Given the description of an element on the screen output the (x, y) to click on. 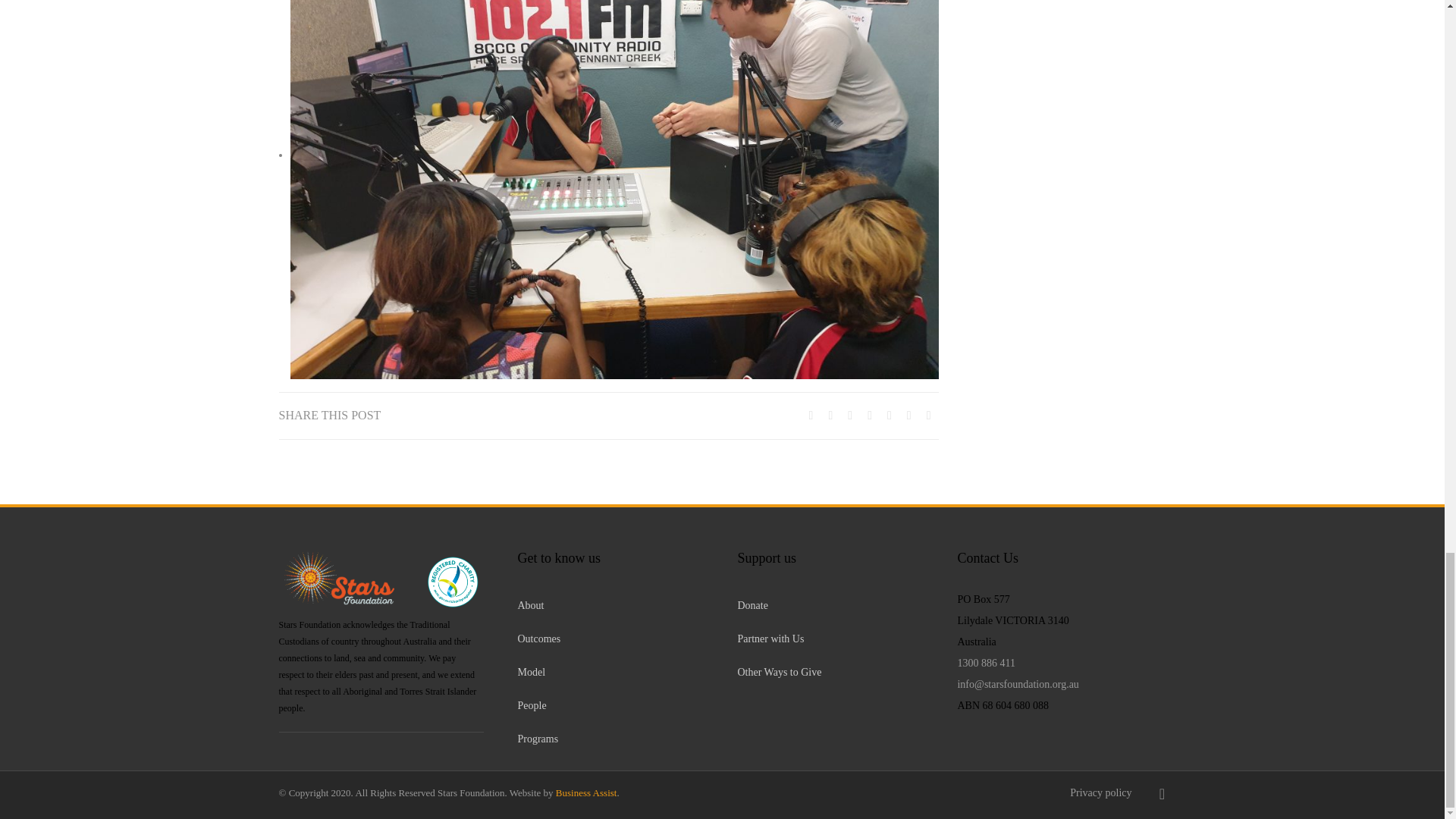
Google Plus (869, 414)
Share on Linkedin (850, 414)
Share on Twitter (830, 414)
Share on Facebook (811, 414)
Share on Tumblr (889, 414)
